Given the description of an element on the screen output the (x, y) to click on. 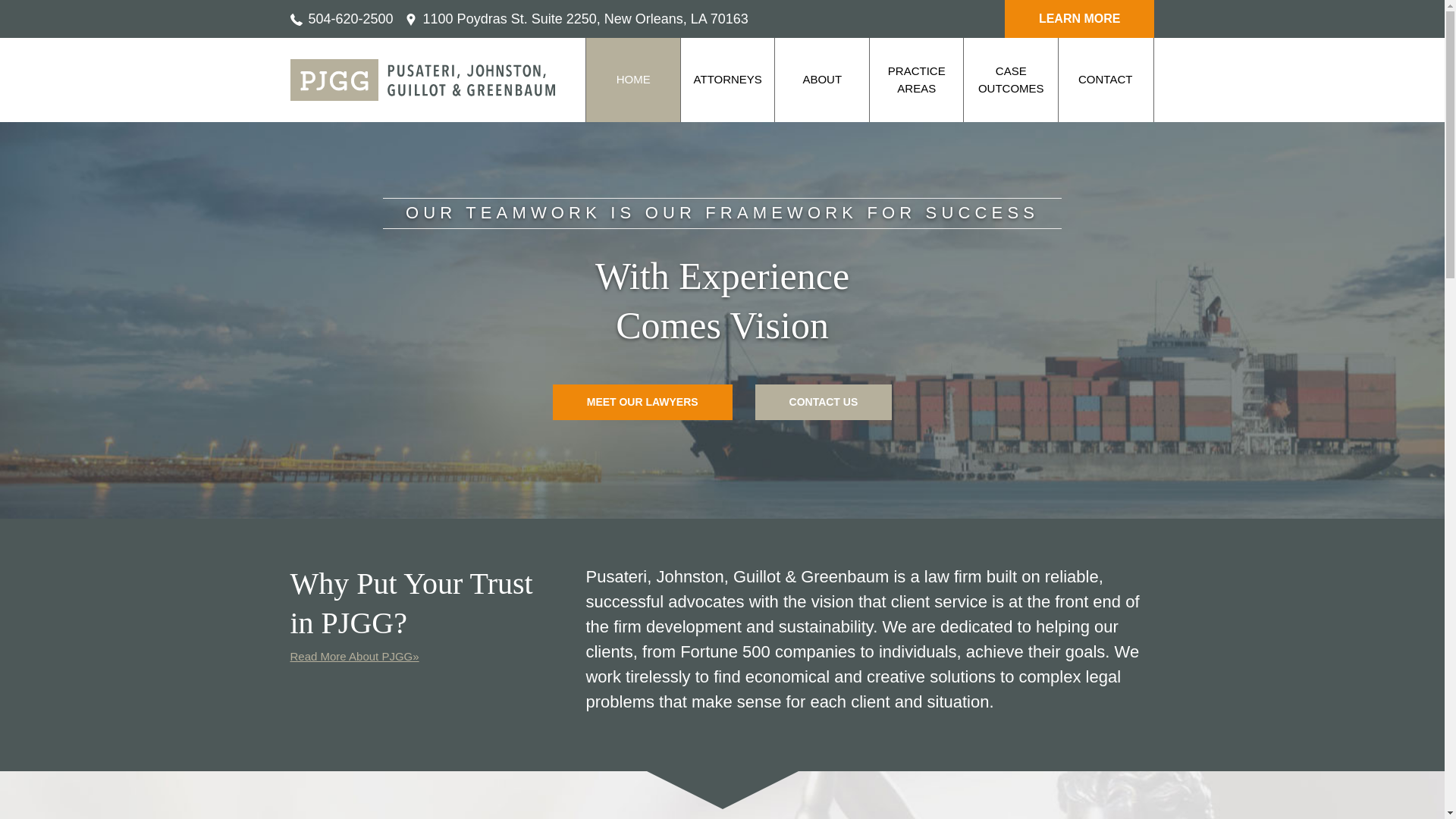
504-620-2500 (341, 17)
ATTORNEYS (727, 79)
LEARN MORE (1079, 18)
CONTACT US (823, 402)
MEET OUR LAWYERS (642, 402)
